Given the description of an element on the screen output the (x, y) to click on. 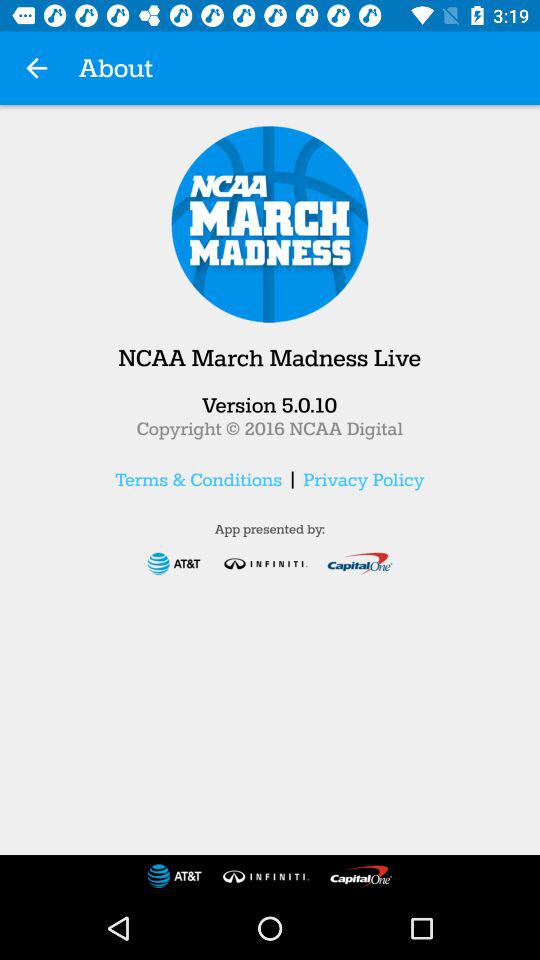
turn off the icon to the left of the  |  item (198, 479)
